Given the description of an element on the screen output the (x, y) to click on. 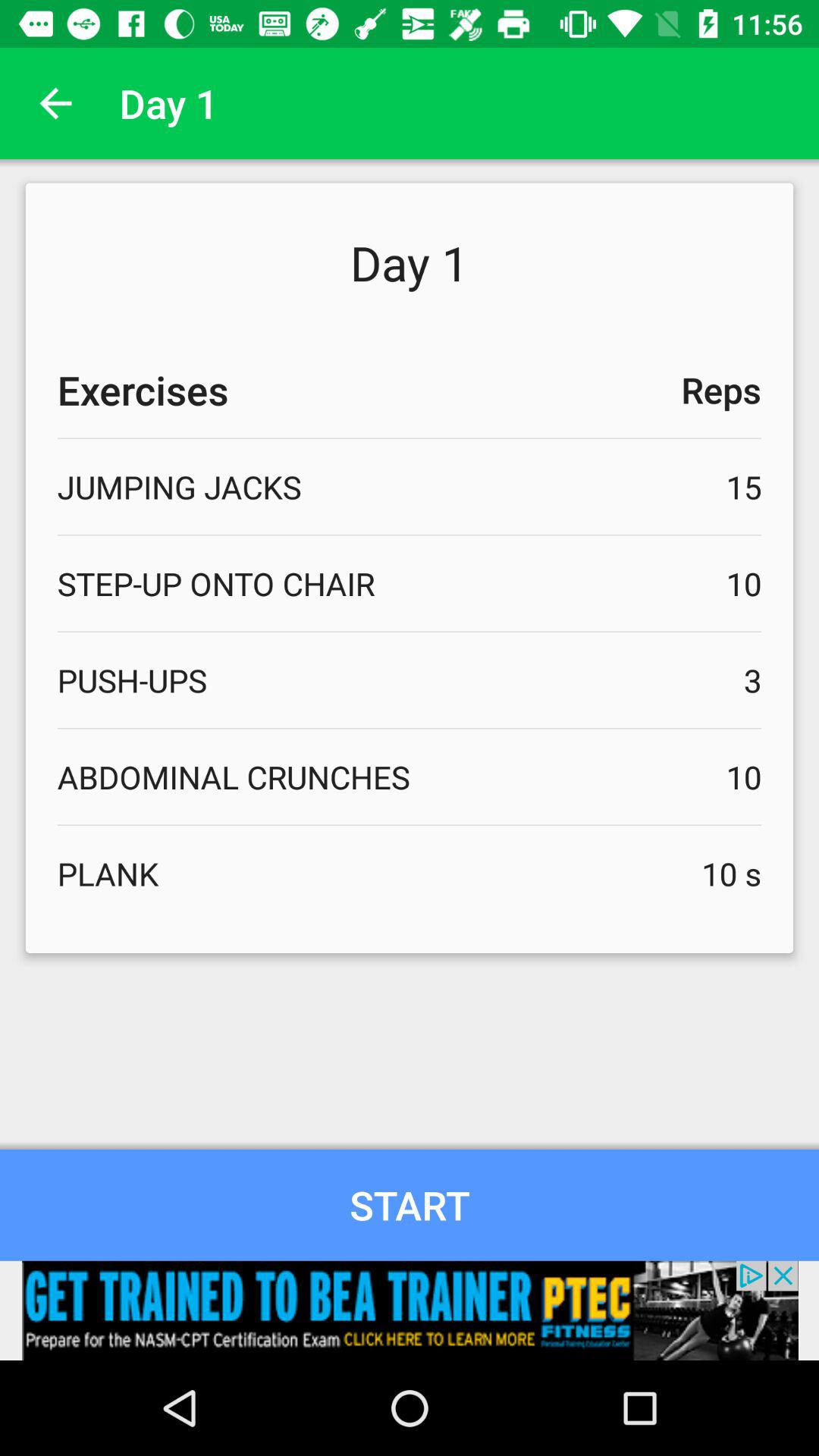
start the exercise (409, 1204)
